Given the description of an element on the screen output the (x, y) to click on. 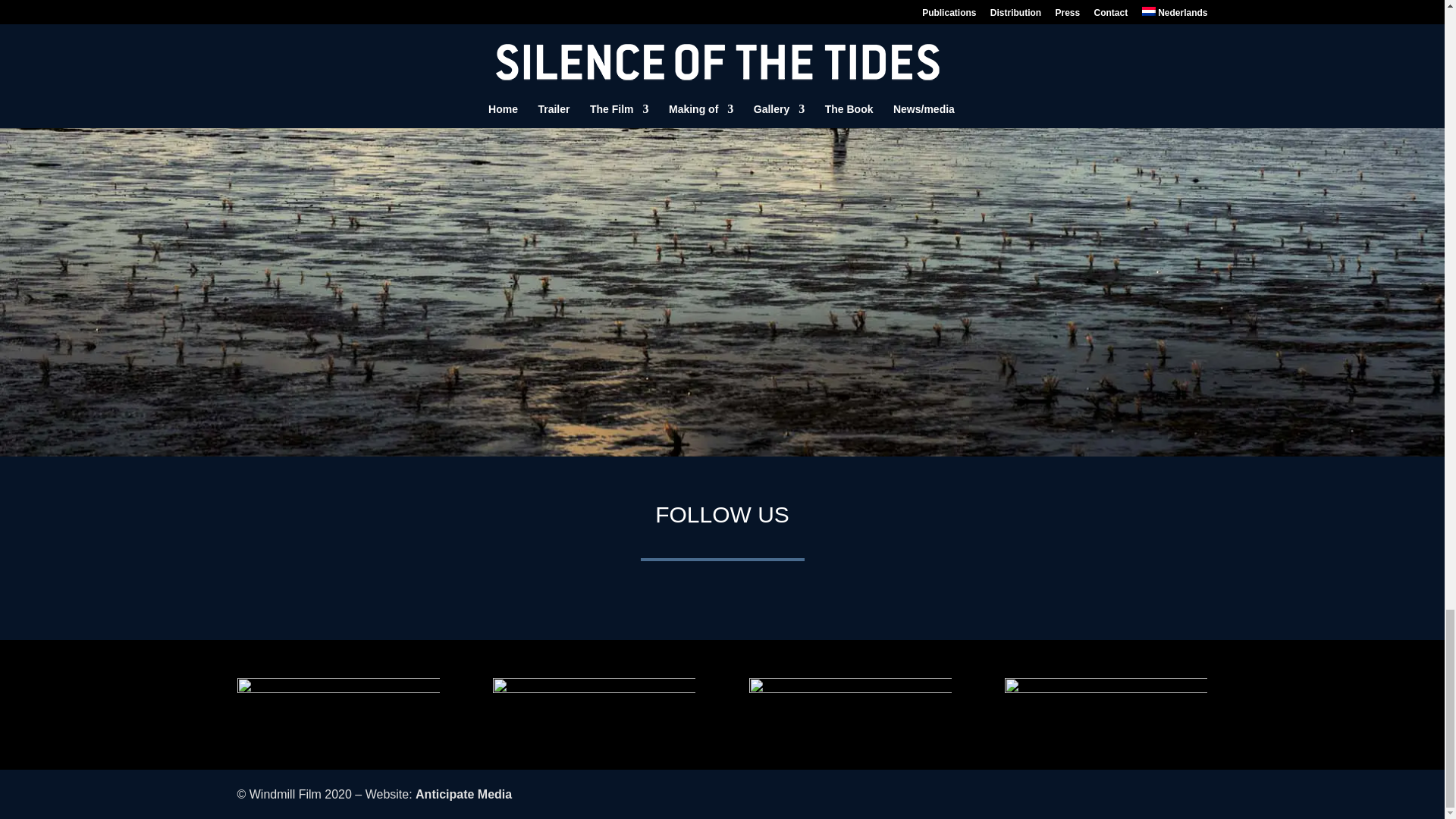
Anticipate (463, 793)
